Given the description of an element on the screen output the (x, y) to click on. 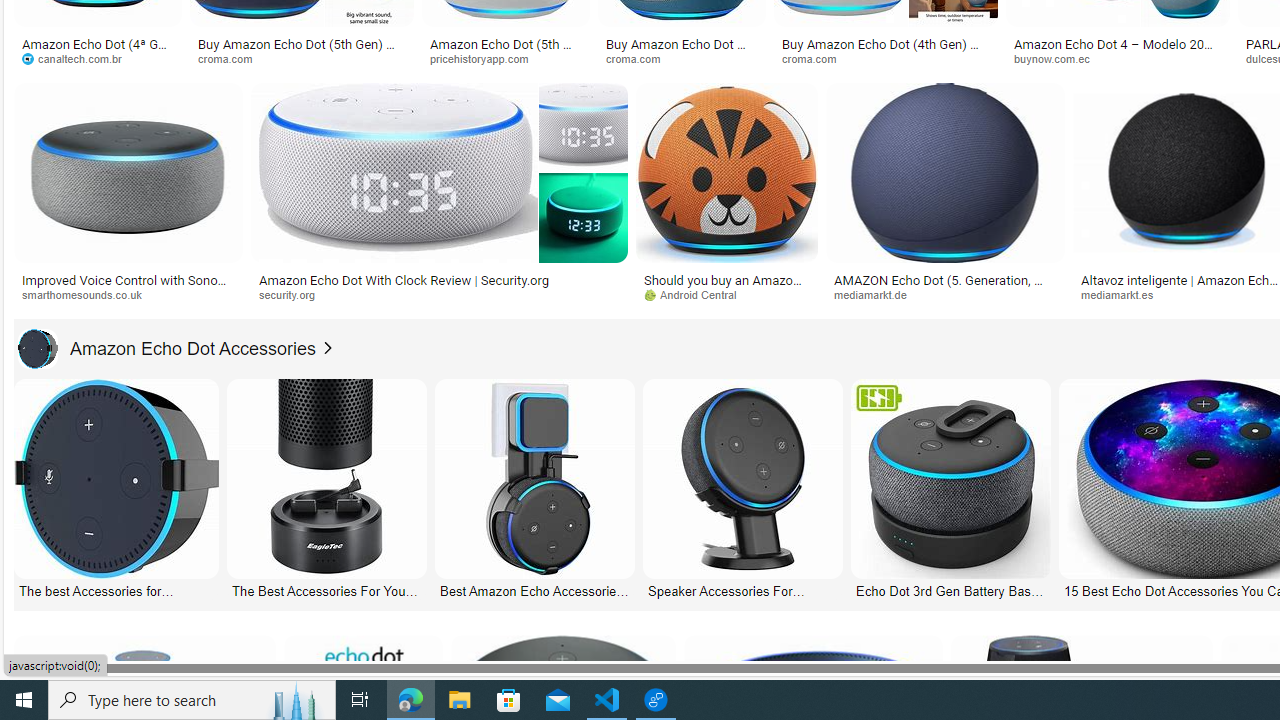
Best Amazon Echo Accessories - Tech Advisor (534, 589)
Amazon Echo Dot With Clock Review | Security.org (404, 279)
canaltech.com.br (78, 57)
croma.com (816, 57)
Amazon Echo Dot Accessories (167, 348)
